Given the description of an element on the screen output the (x, y) to click on. 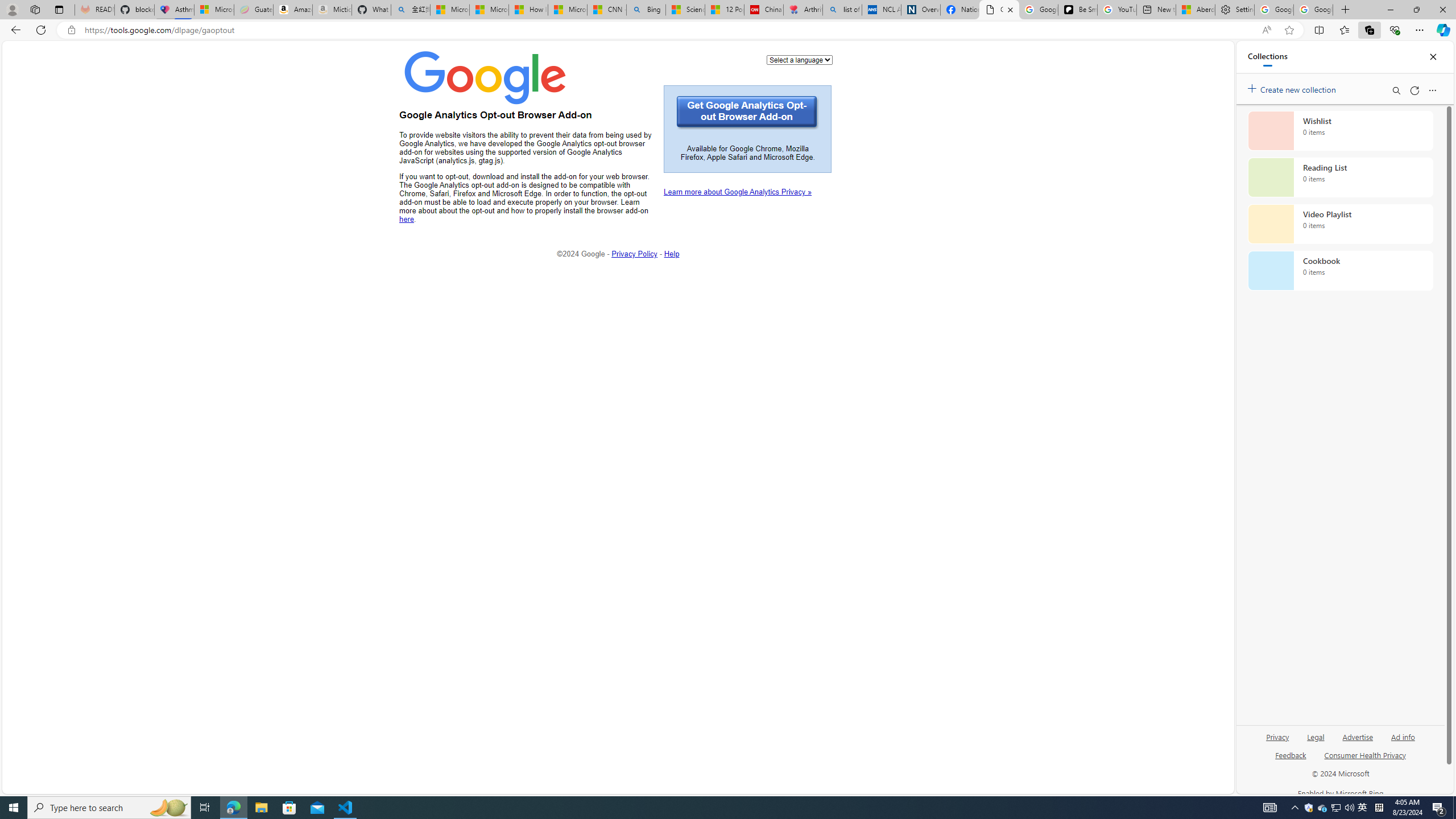
list of asthma inhalers uk - Search (842, 9)
Ad info (1402, 736)
Science - MSN (685, 9)
Get Google Analytics Opt-out Browser Add-on (747, 112)
Ad info (1402, 741)
CNN - MSN (606, 9)
Privacy Policy (634, 252)
Help (671, 252)
Advertise (1357, 736)
